Given the description of an element on the screen output the (x, y) to click on. 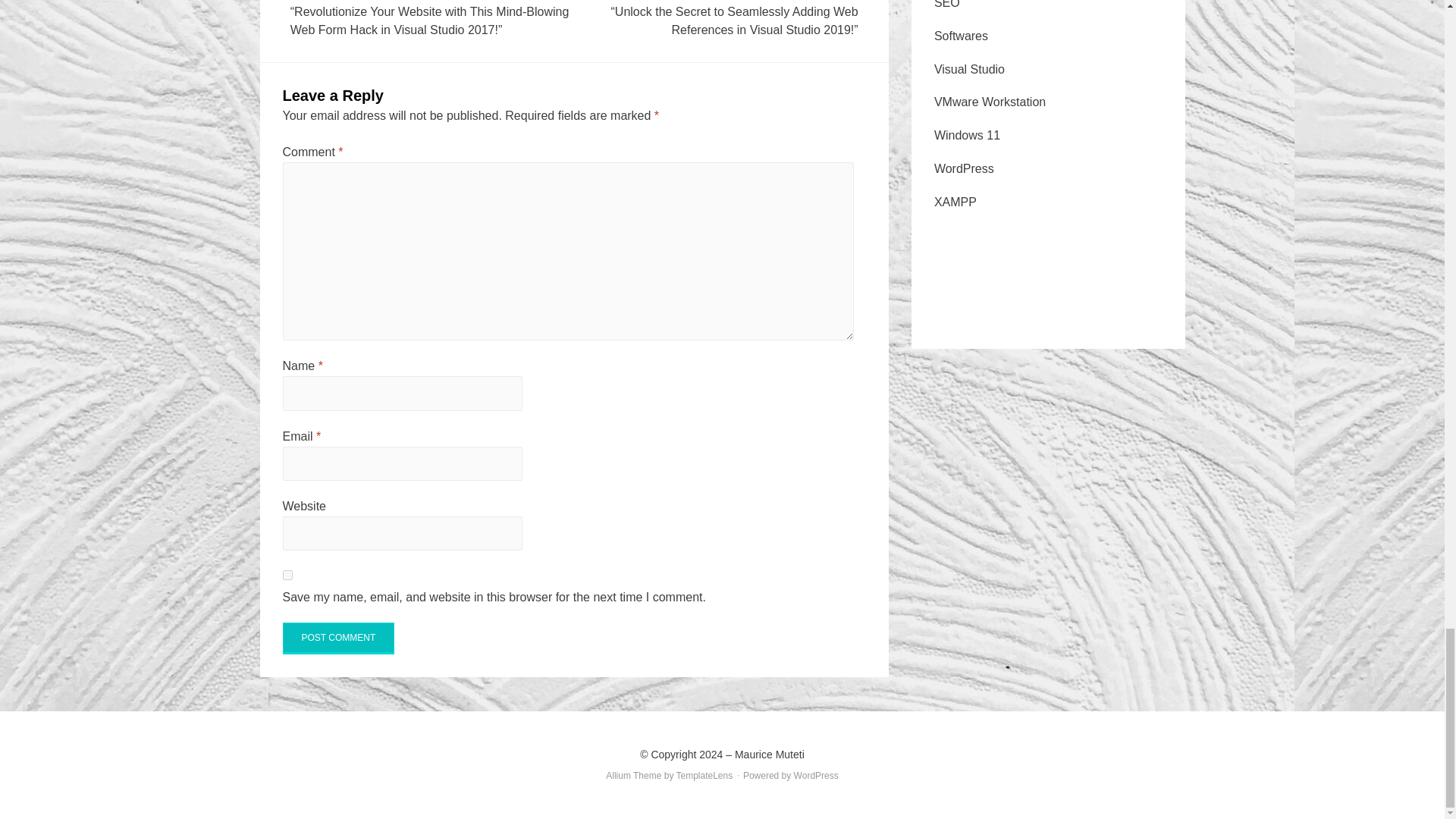
Post Comment (338, 638)
yes (287, 574)
Post Comment (338, 638)
